Given the description of an element on the screen output the (x, y) to click on. 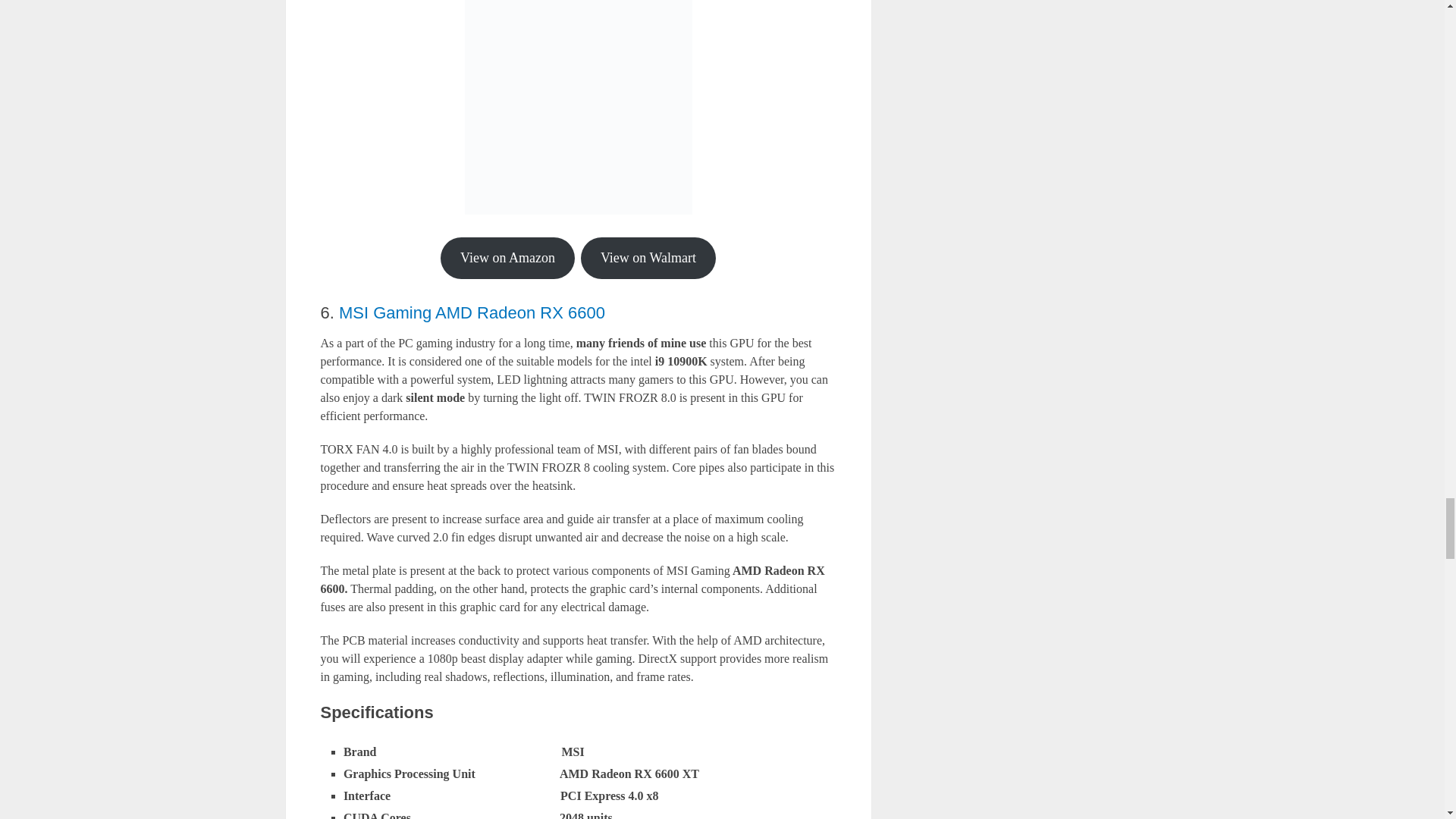
View on Amazon (508, 258)
View on Walmart (648, 258)
